Given the description of an element on the screen output the (x, y) to click on. 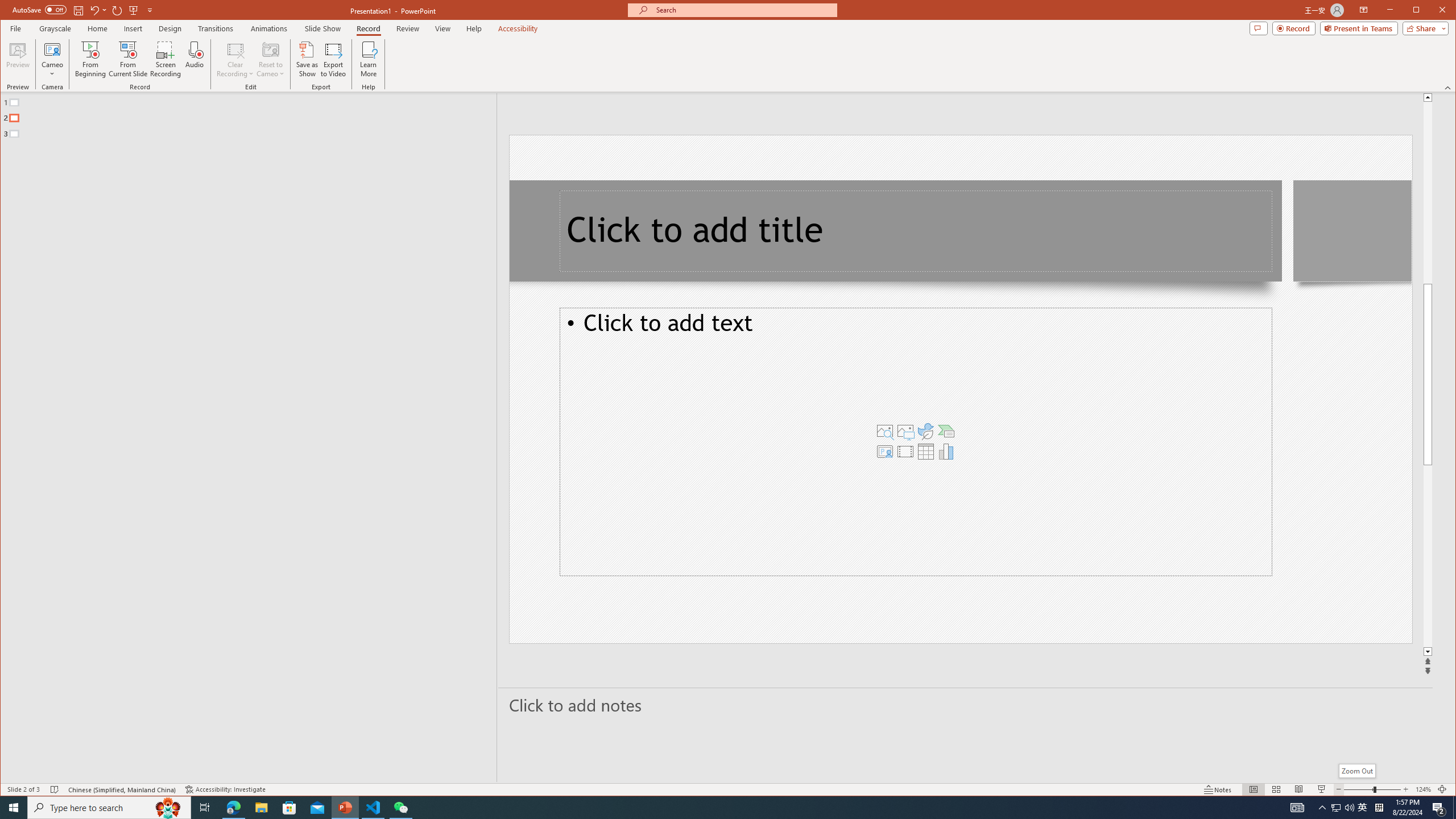
From Current Slide... (127, 59)
Microsoft Edge - 1 running window (233, 807)
Insert a SmartArt Graphic (946, 430)
WeChat - 1 running window (400, 807)
Insert Table (925, 451)
